Given the description of an element on the screen output the (x, y) to click on. 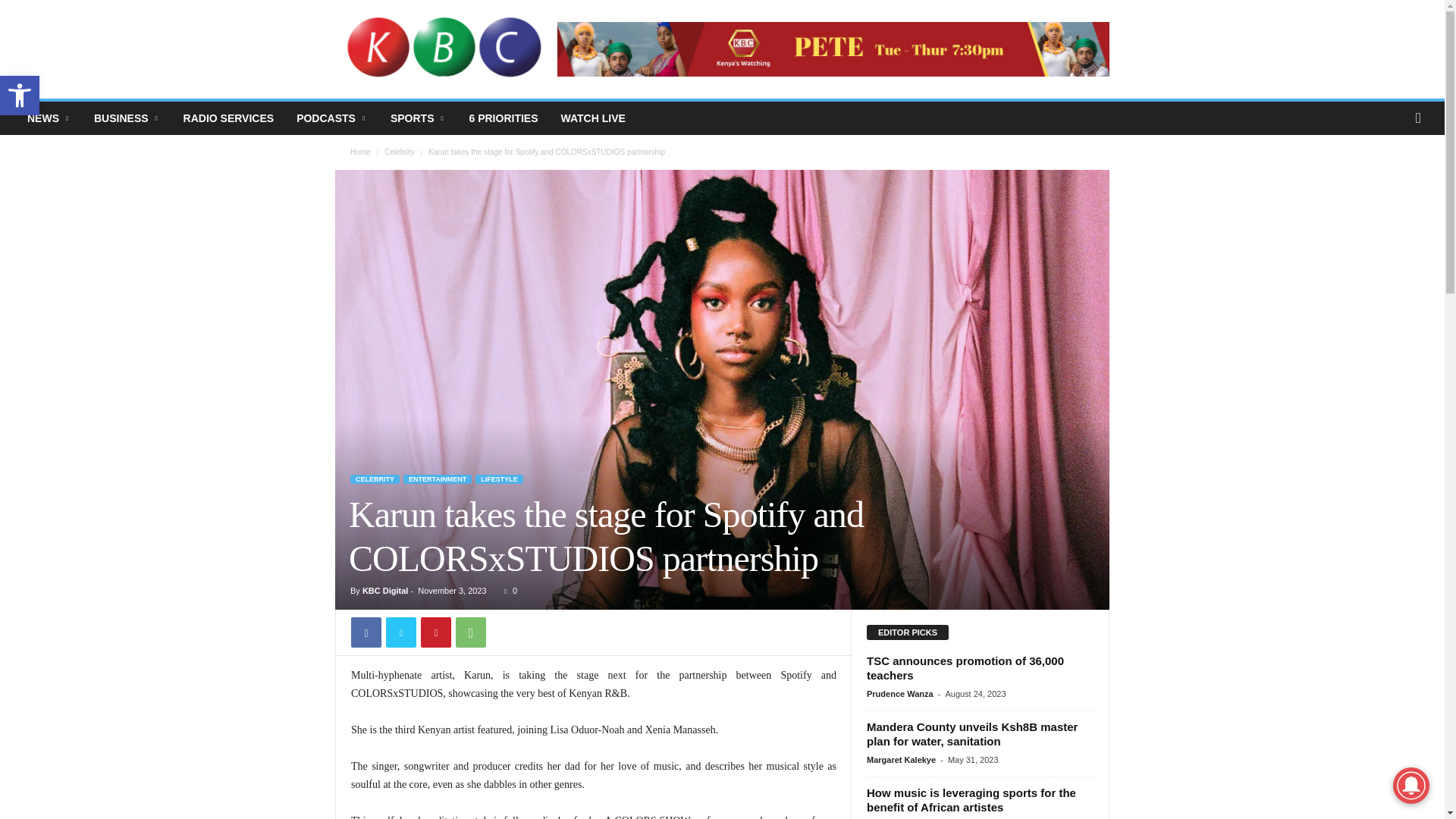
Accessibility Tools (19, 95)
Accessibility Tools (19, 95)
